Given the description of an element on the screen output the (x, y) to click on. 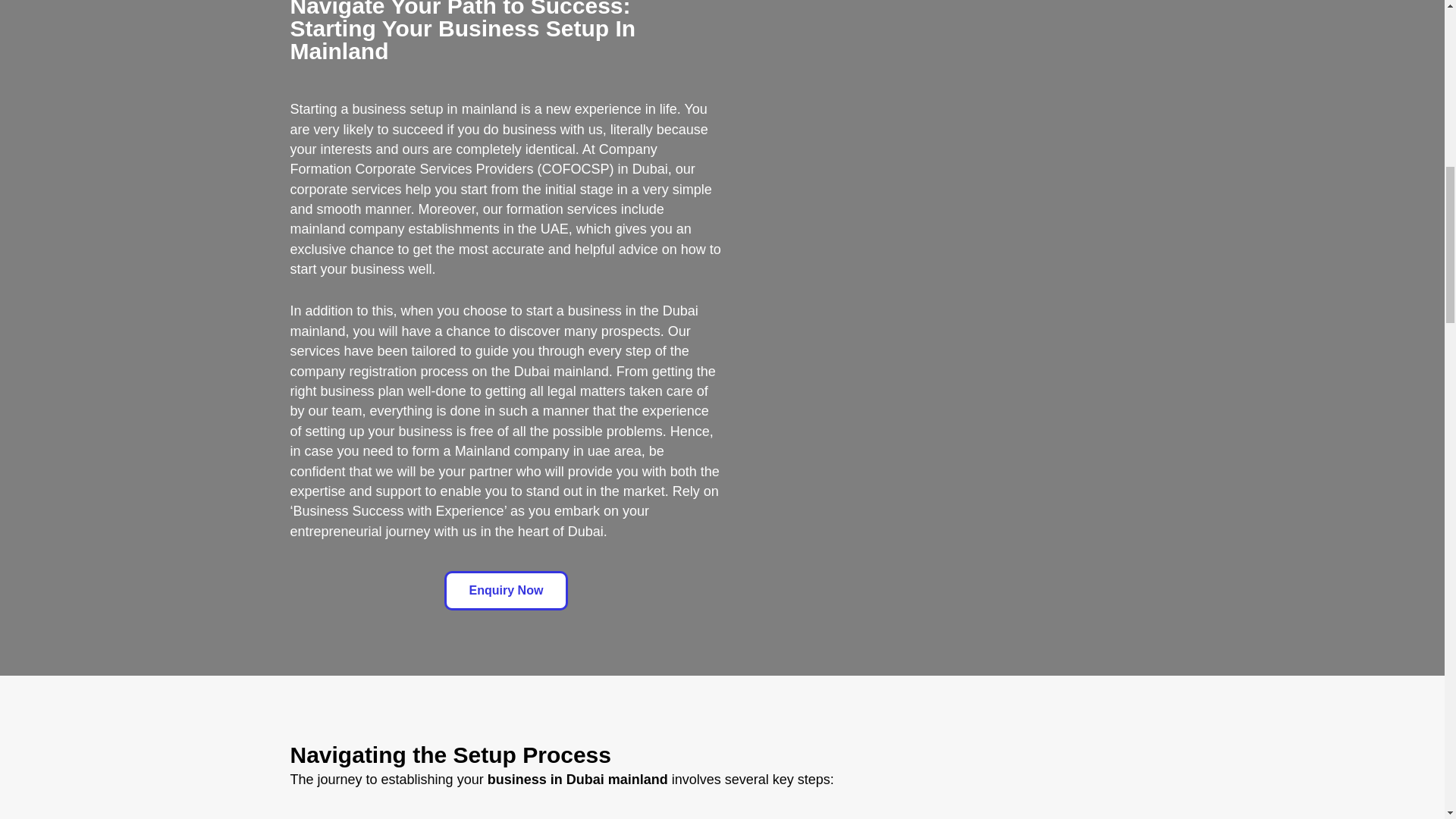
Enquiry Now (506, 590)
